Given the description of an element on the screen output the (x, y) to click on. 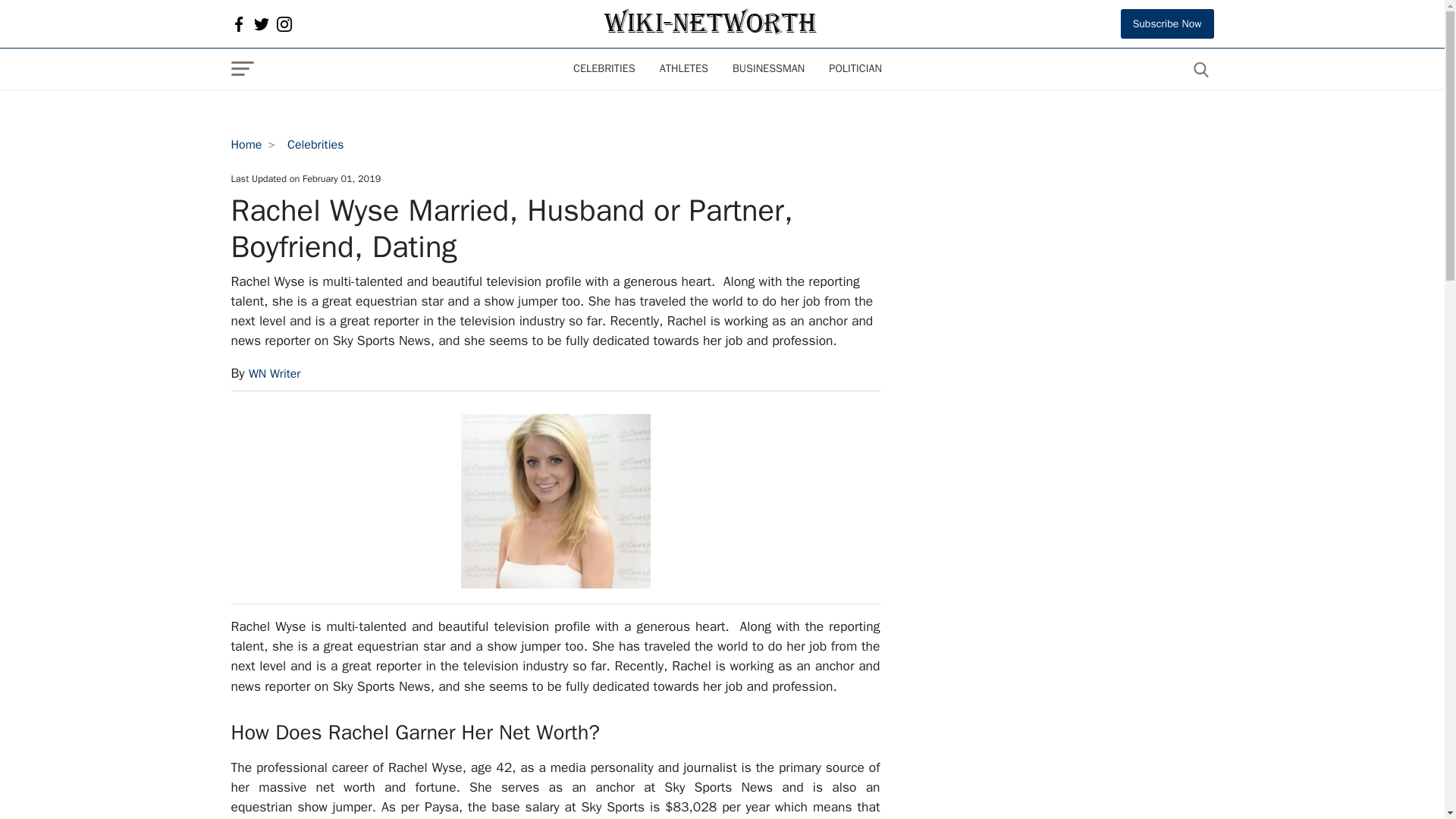
Follow Us On instagram (283, 23)
BUSINESSMAN (768, 68)
Connect with us on Facebook (238, 23)
WN Writer (273, 373)
CELEBRITIES (603, 68)
Businessman (768, 68)
Celebrities (603, 68)
Subscribe to our Newsletter (1167, 23)
Follow Us On twitter (260, 23)
POLITICIAN (854, 68)
